Given the description of an element on the screen output the (x, y) to click on. 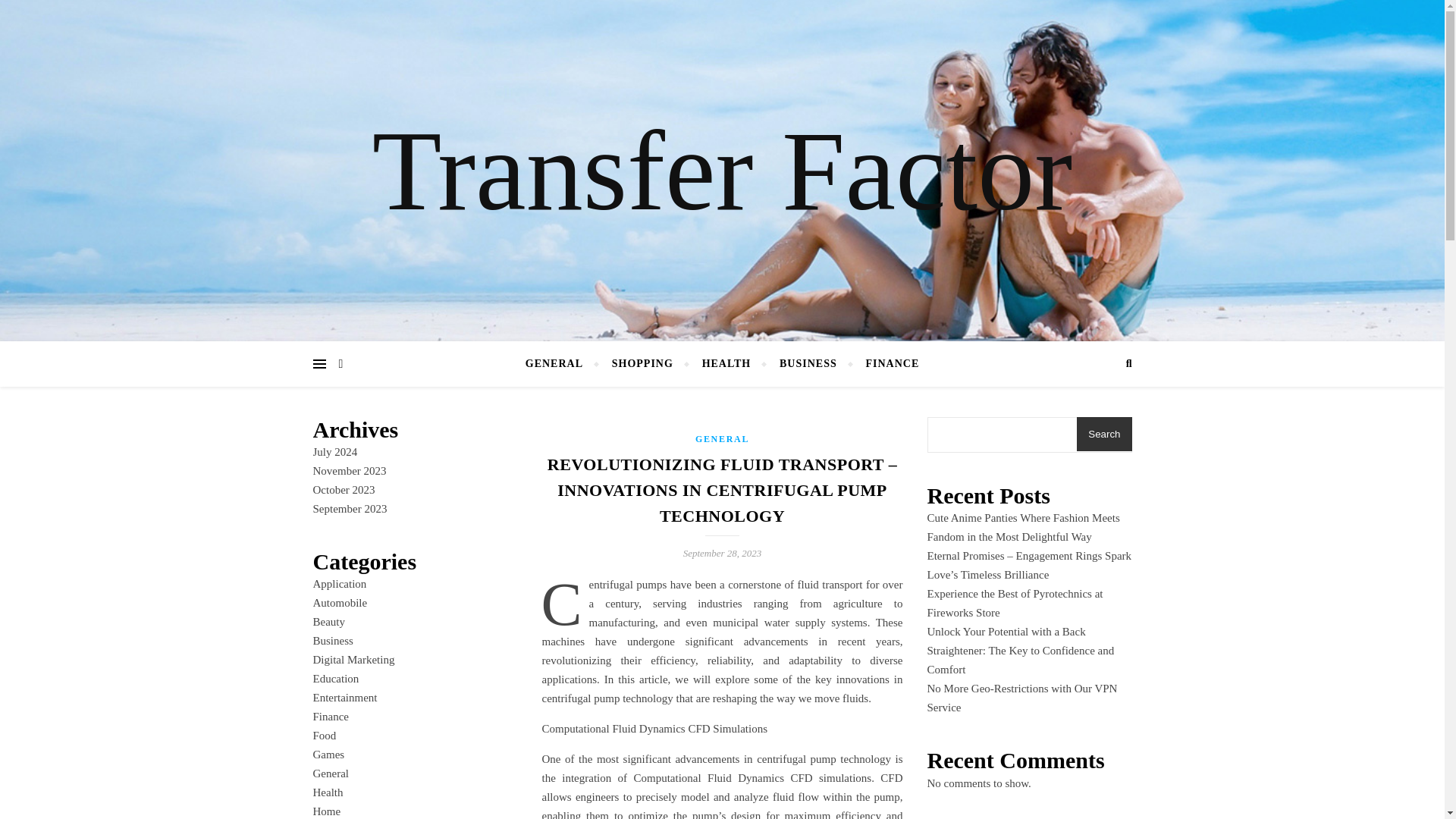
HEALTH (726, 363)
Health (327, 792)
Games (328, 754)
September 2023 (350, 508)
SHOPPING (641, 363)
GENERAL (560, 363)
Home (326, 811)
Application (339, 583)
Entertainment (345, 697)
Automobile (339, 603)
